Given the description of an element on the screen output the (x, y) to click on. 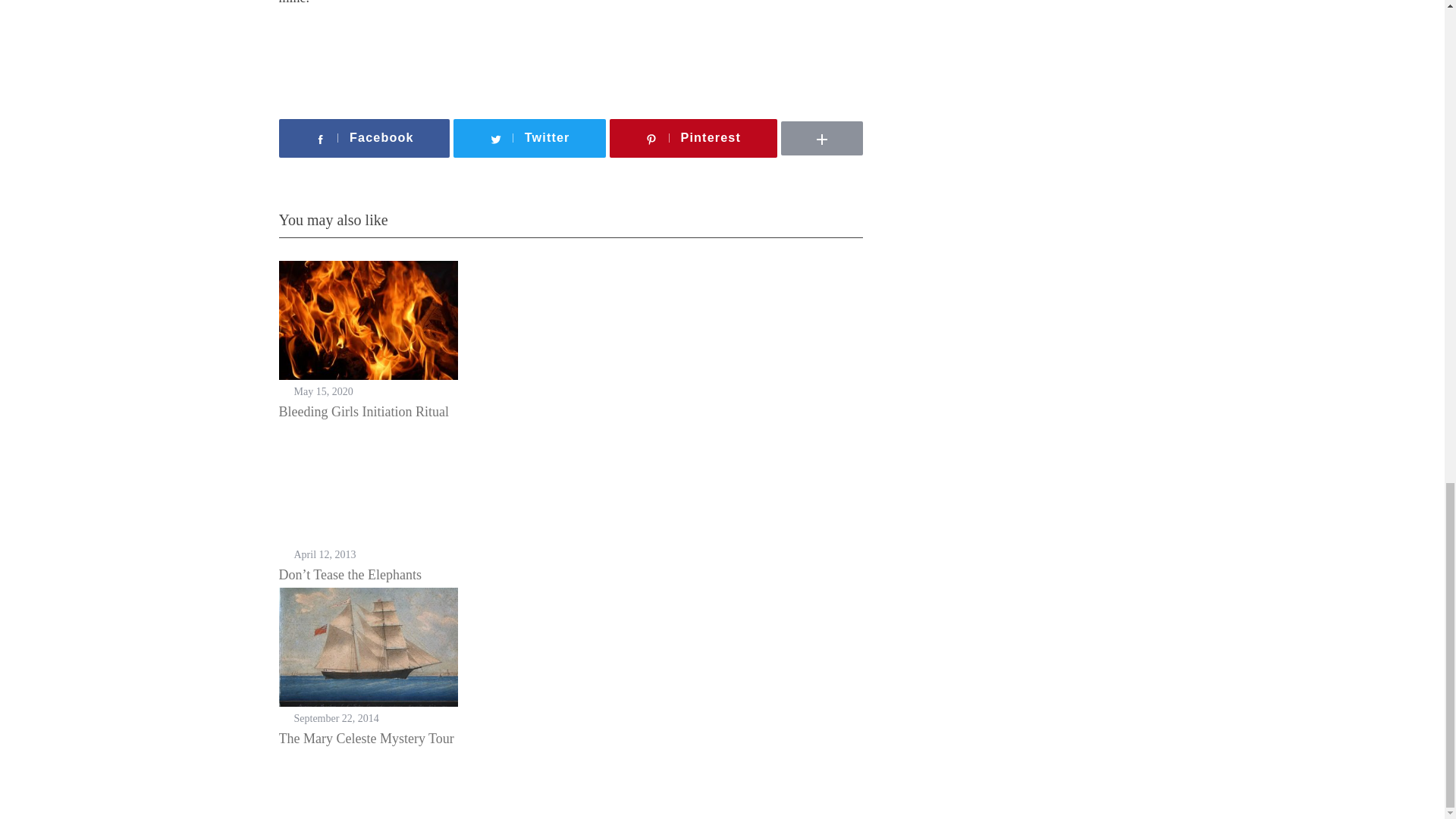
Bleeding Girls Initiation Ritual (363, 411)
Twitter (528, 138)
LINKEDIN (867, 116)
Facebook (364, 138)
The Mary Celeste Mystery Tour (366, 738)
Pinterest (693, 138)
